Given the description of an element on the screen output the (x, y) to click on. 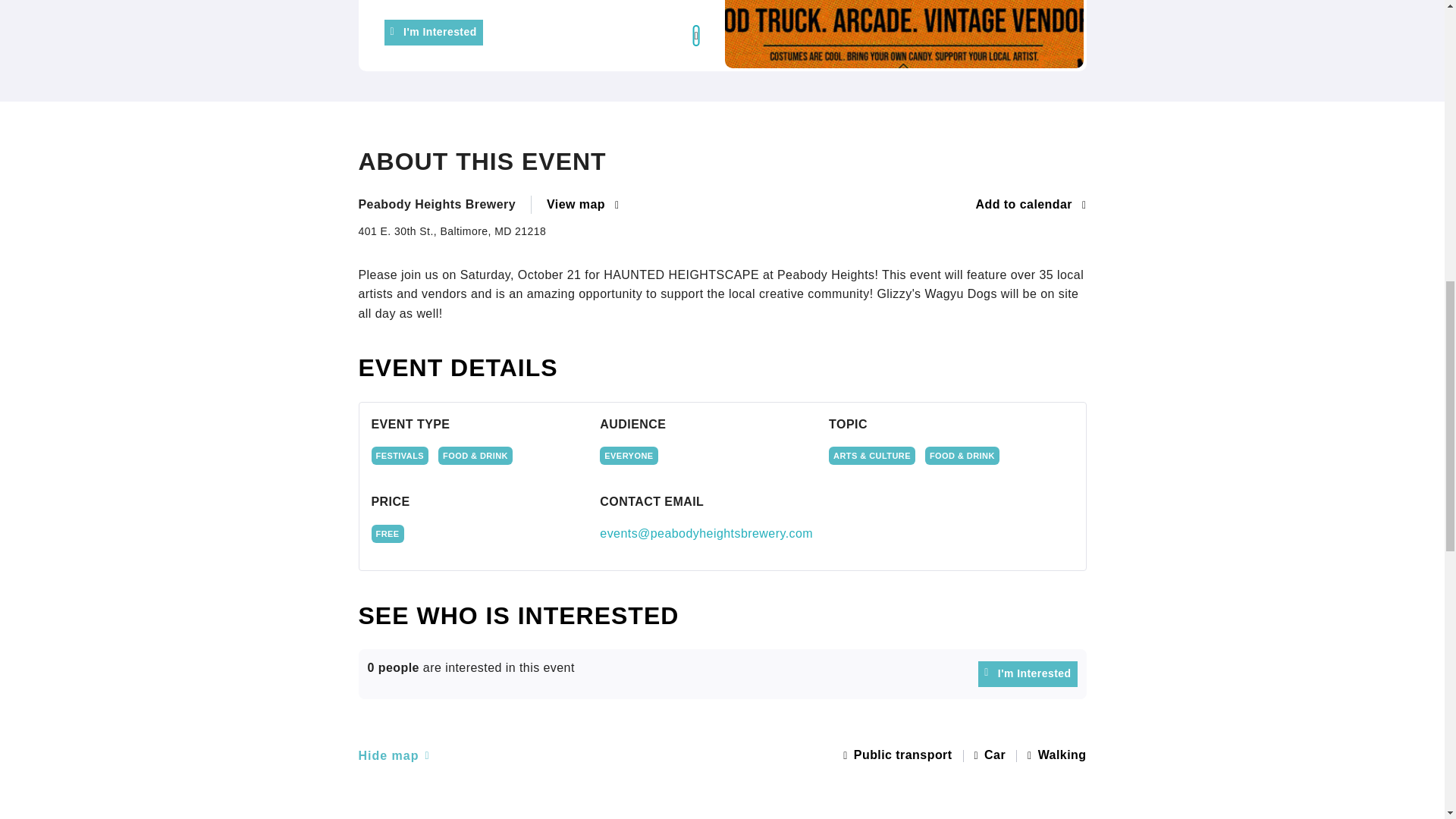
Event Location Map (722, 800)
